Given the description of an element on the screen output the (x, y) to click on. 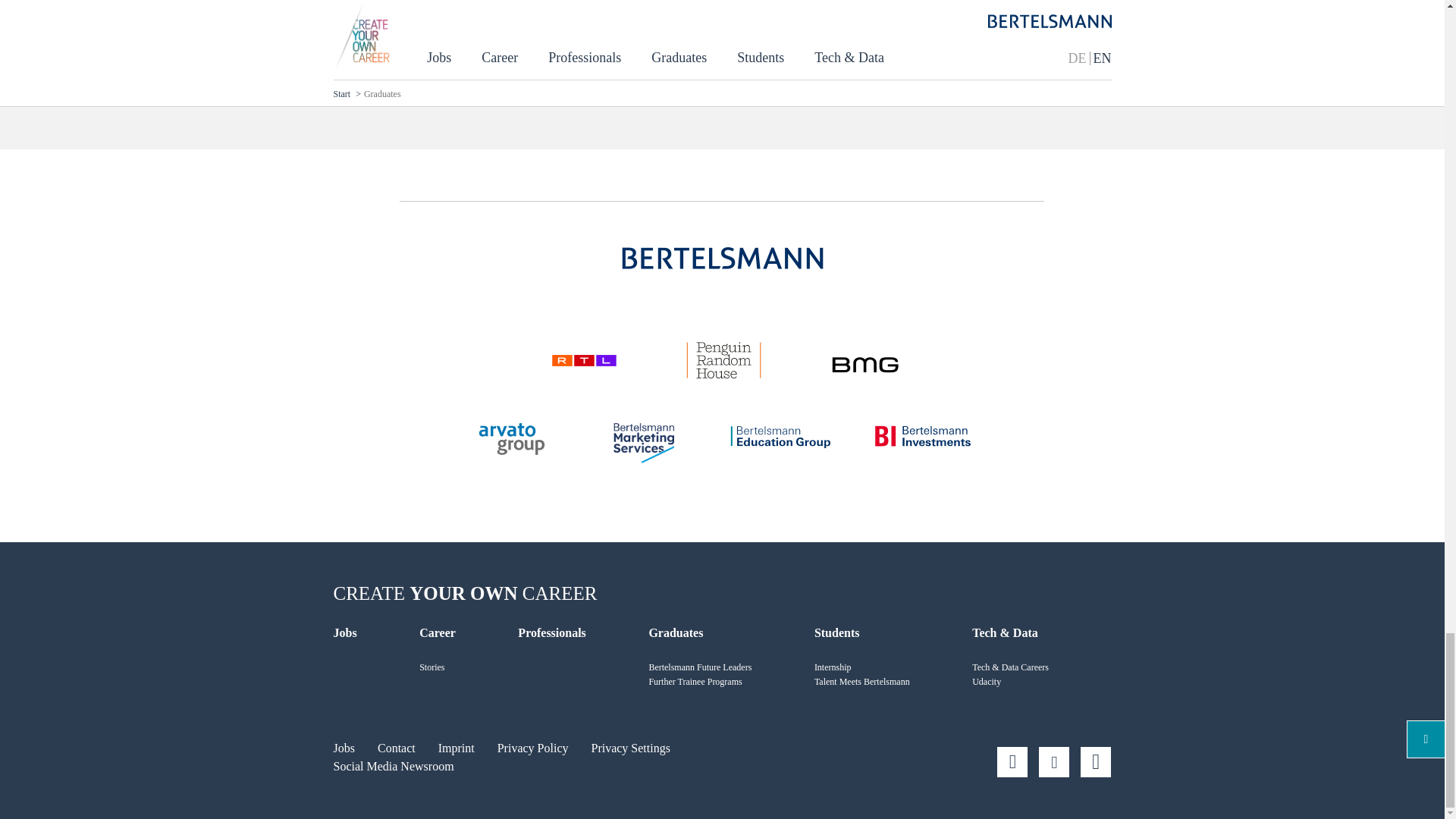
Instagram (1012, 761)
Social Media Newsroom (393, 766)
Xing (1095, 761)
LinkedIn (1053, 761)
Privacy Policy (533, 748)
Jobs (344, 748)
Privacy Settings (630, 748)
Contact (395, 748)
Imprint (456, 748)
